Given the description of an element on the screen output the (x, y) to click on. 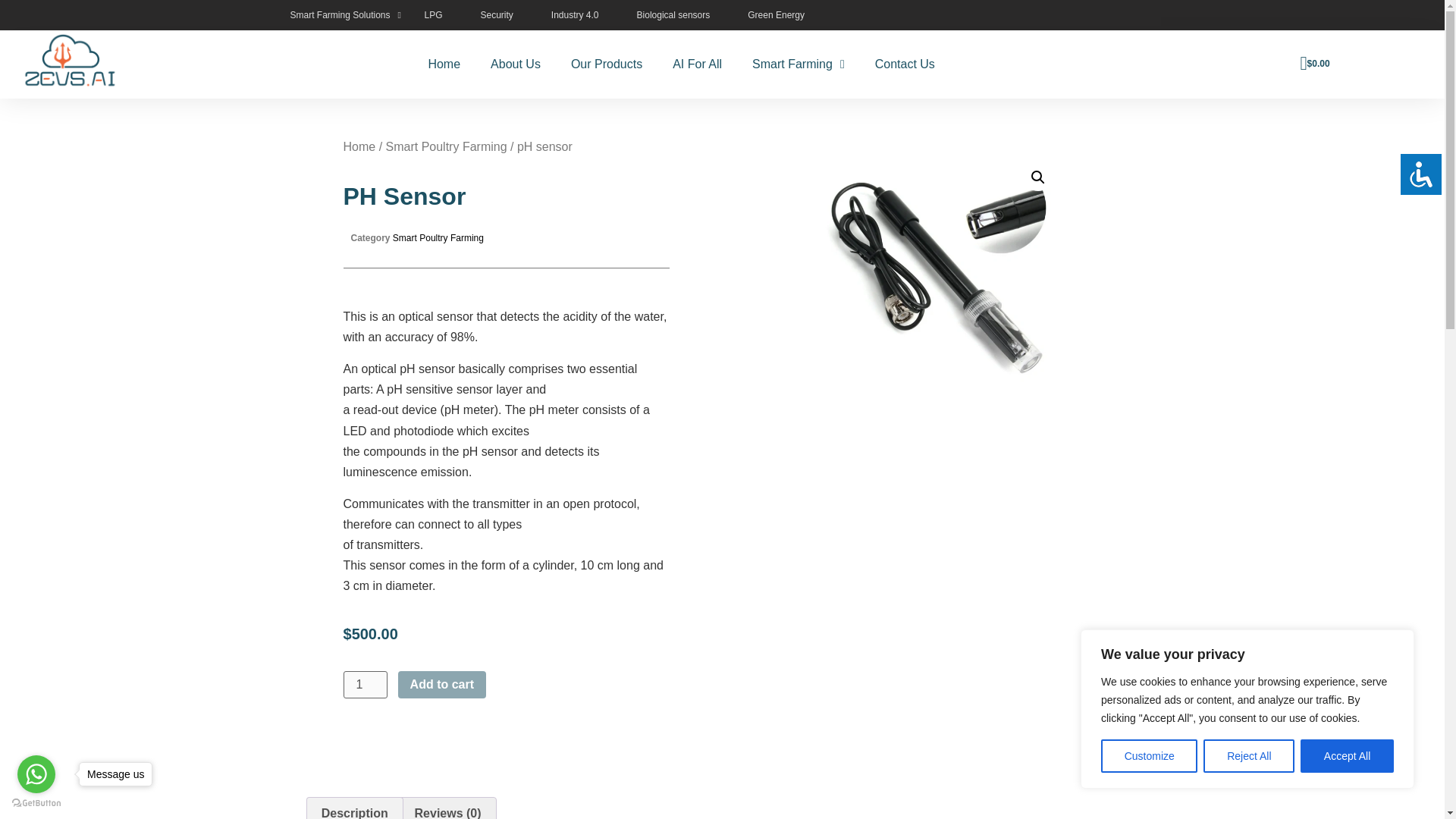
Green Energy (776, 15)
Industry 4.0 (574, 15)
Accept All (1346, 756)
LPG (432, 15)
Biological sensors (673, 15)
Customize (1148, 756)
1 (364, 684)
Security (496, 15)
Smart Farming Solutions (344, 14)
Reject All (1249, 756)
